Given the description of an element on the screen output the (x, y) to click on. 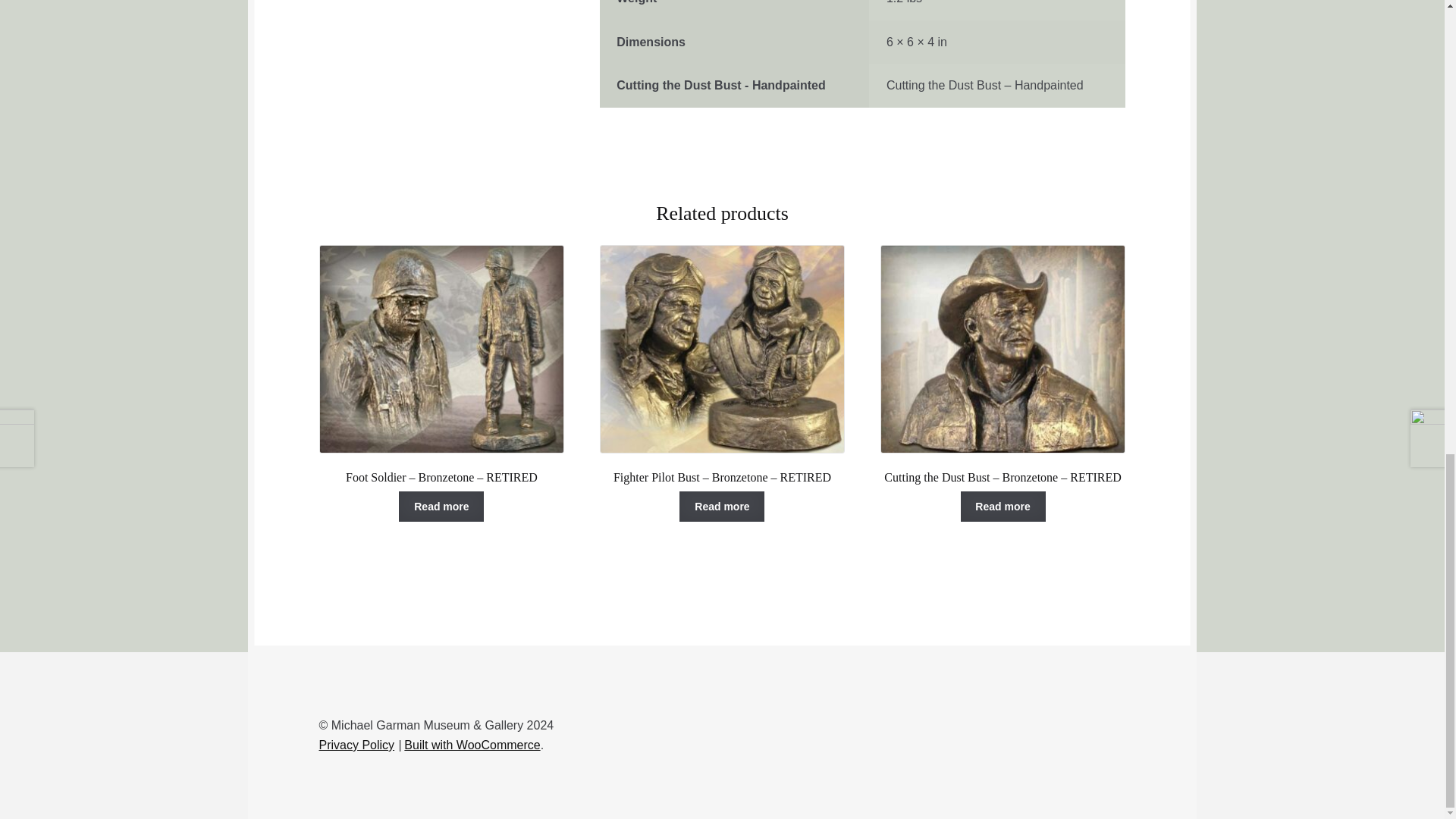
Built with WooCommerce (472, 744)
Read more (1002, 506)
WooCommerce - The Best eCommerce Platform for WordPress (472, 744)
Read more (440, 506)
Read more (721, 506)
Privacy Policy (356, 744)
